Given the description of an element on the screen output the (x, y) to click on. 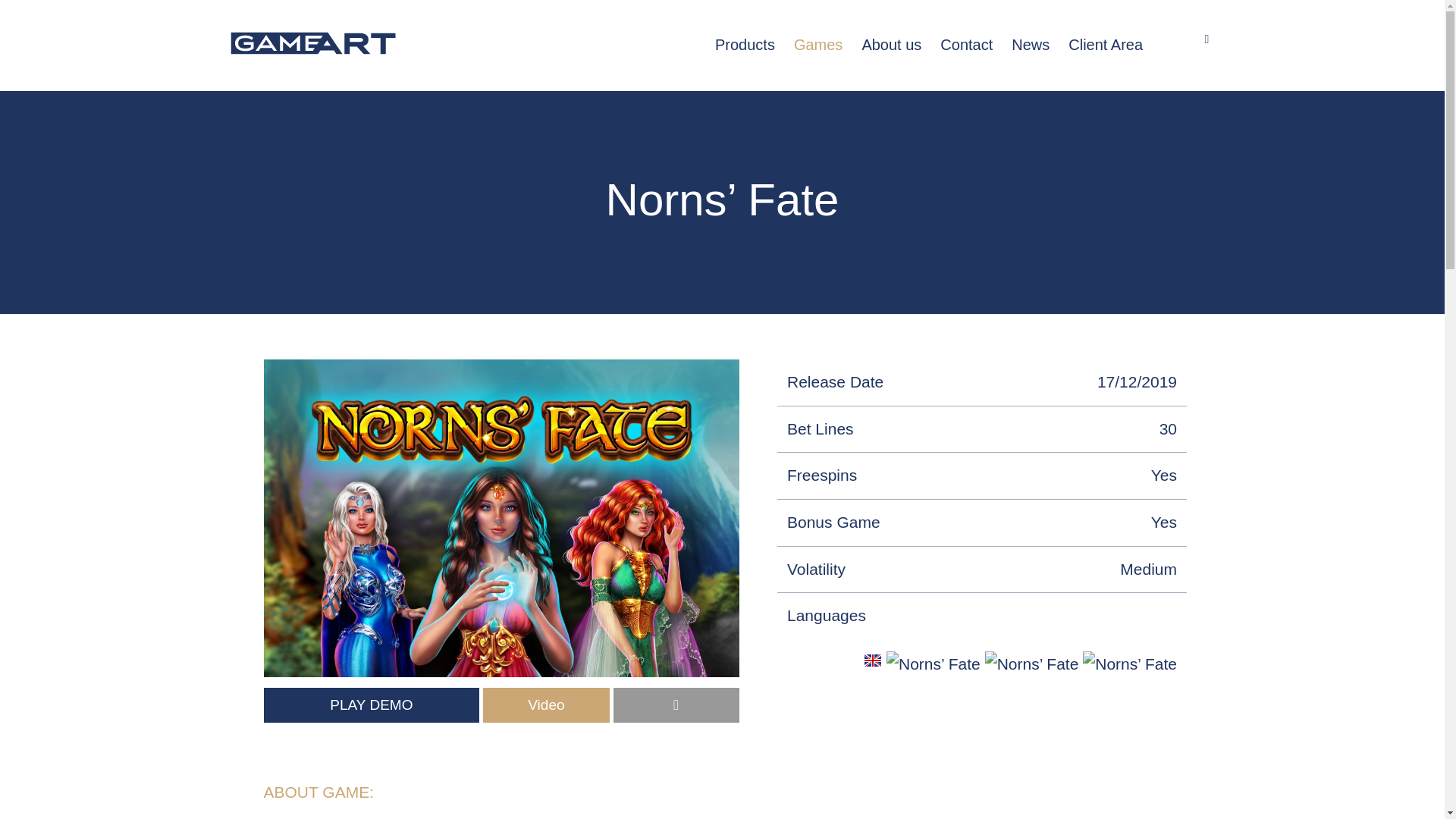
Contact (966, 44)
Video preview (545, 704)
Client Area (1105, 44)
Products (744, 44)
Play demo (371, 704)
About us (891, 44)
Games (818, 44)
PLAY DEMO (371, 704)
Video (545, 704)
News (1030, 44)
